Given the description of an element on the screen output the (x, y) to click on. 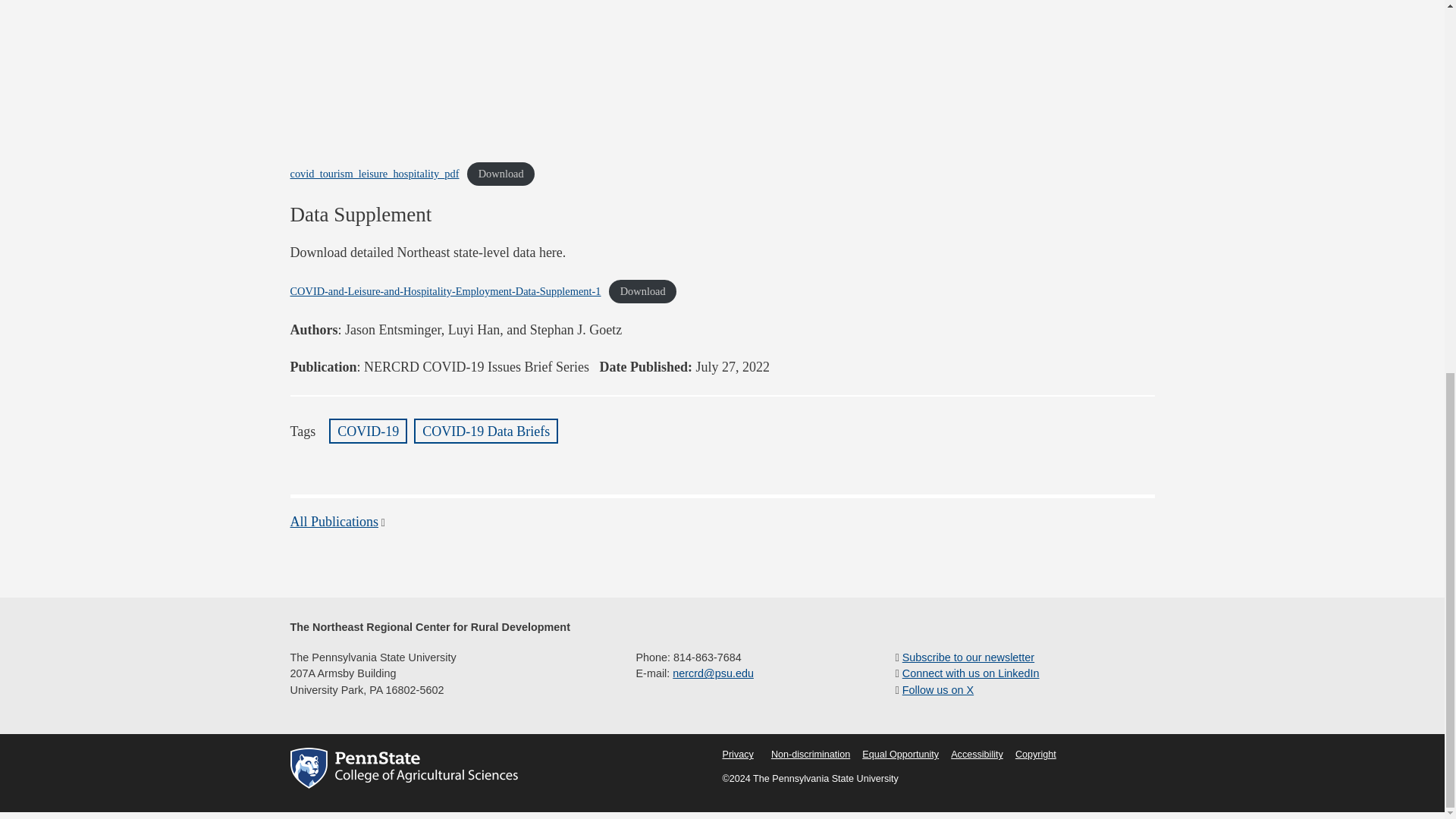
Equal Opportunity (900, 754)
Download (642, 291)
Non-discrimination (810, 754)
COVID-19 Data Briefs (485, 430)
Follow us on X (938, 689)
Privacy (737, 754)
Download (500, 173)
Subscribe to our newsletter (967, 657)
Connect with us on LinkedIn (970, 673)
COVID-19 (368, 430)
All Publications (333, 521)
Accessibility (976, 754)
